Given the description of an element on the screen output the (x, y) to click on. 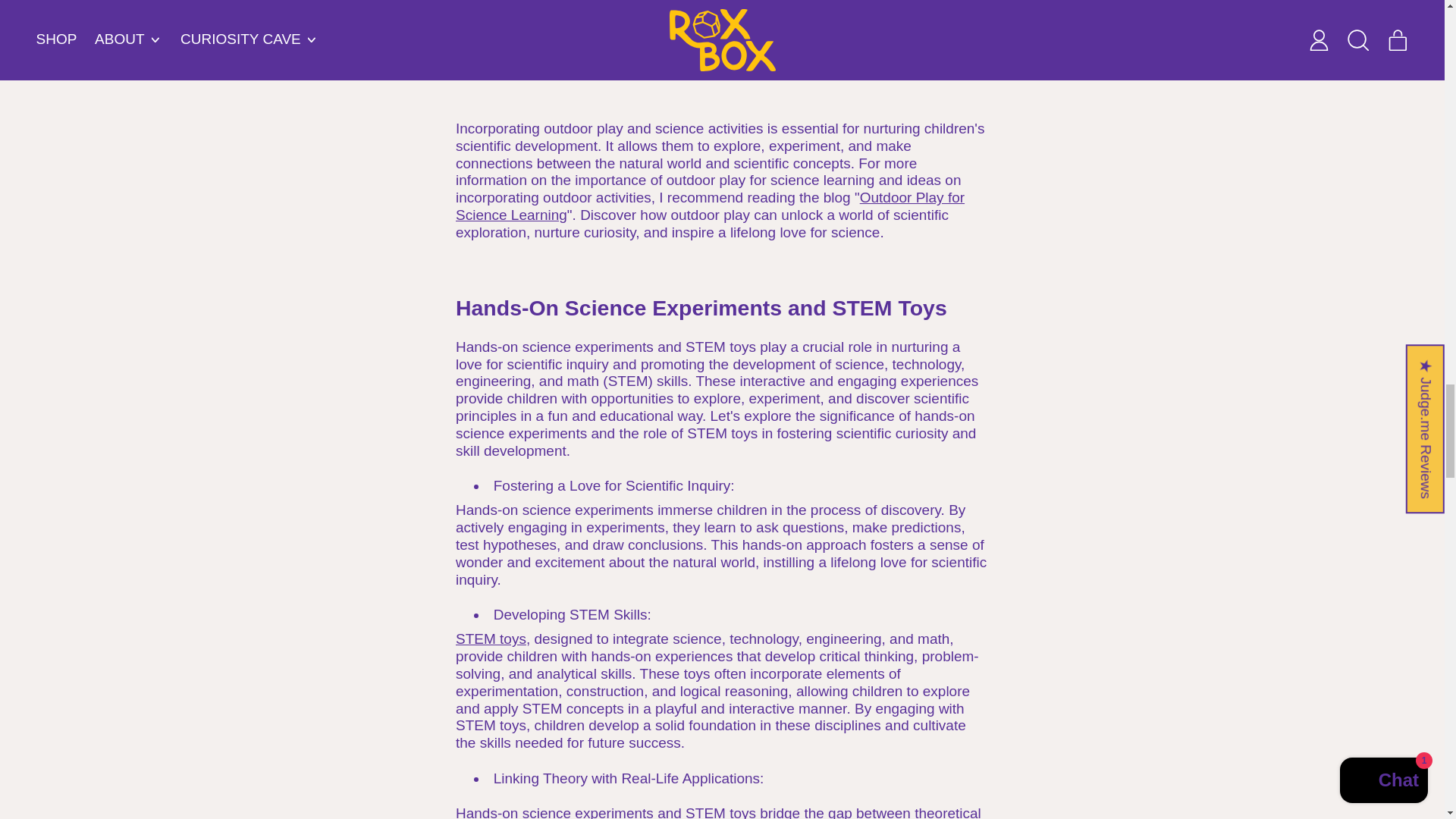
STEM toys (490, 638)
Outdoor Play for Science Learning (709, 205)
teaching kids about science with outdoor play-based learning (709, 205)
STEM toys for kids NZ (490, 638)
